Given the description of an element on the screen output the (x, y) to click on. 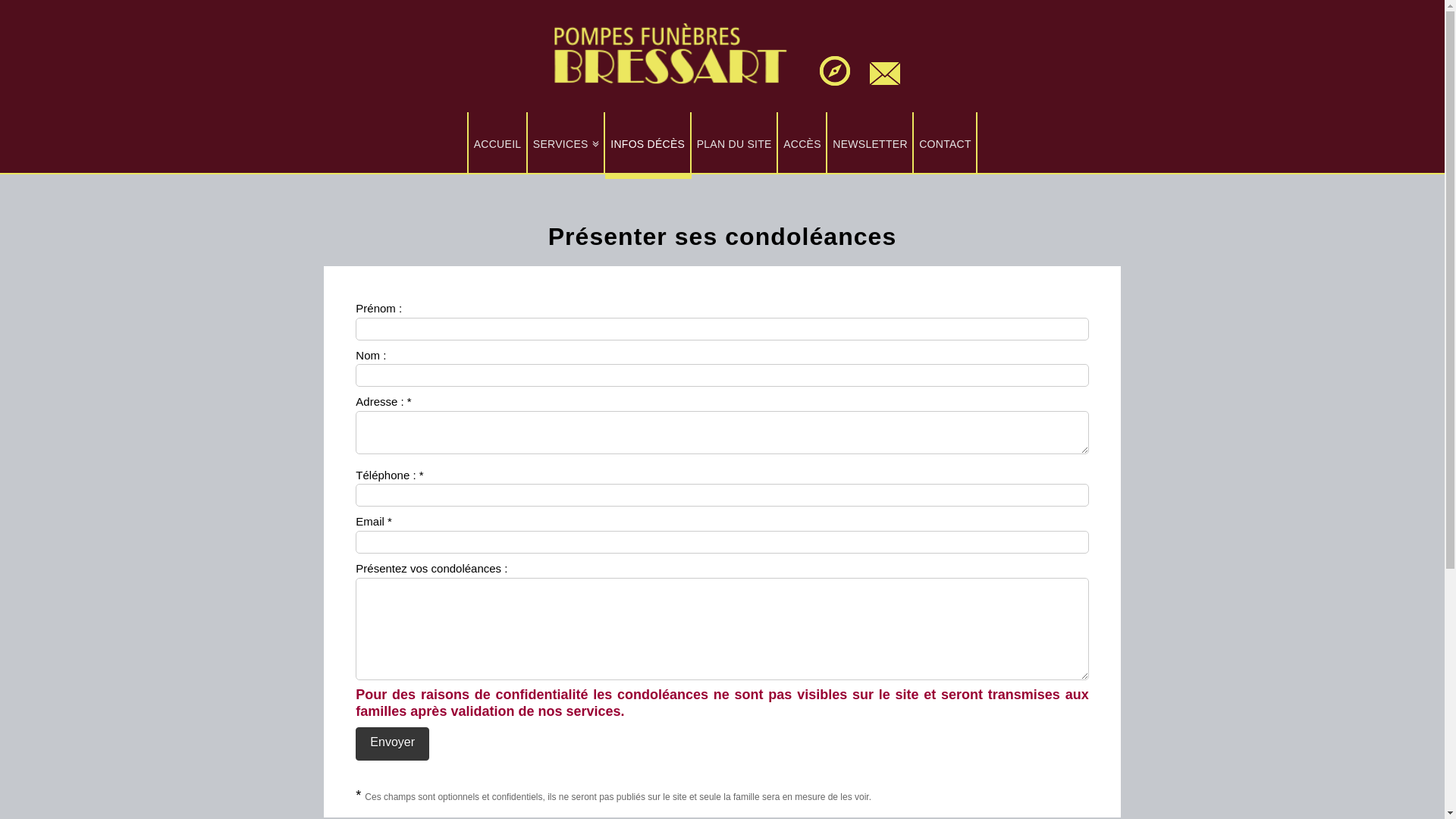
PLAN DU SITE Element type: text (734, 142)
CONTACT Element type: text (945, 142)
Envoyer Element type: text (392, 744)
NEWSLETTER Element type: text (870, 142)
SERVICES Element type: text (566, 142)
ACCUEIL Element type: text (497, 142)
